Given the description of an element on the screen output the (x, y) to click on. 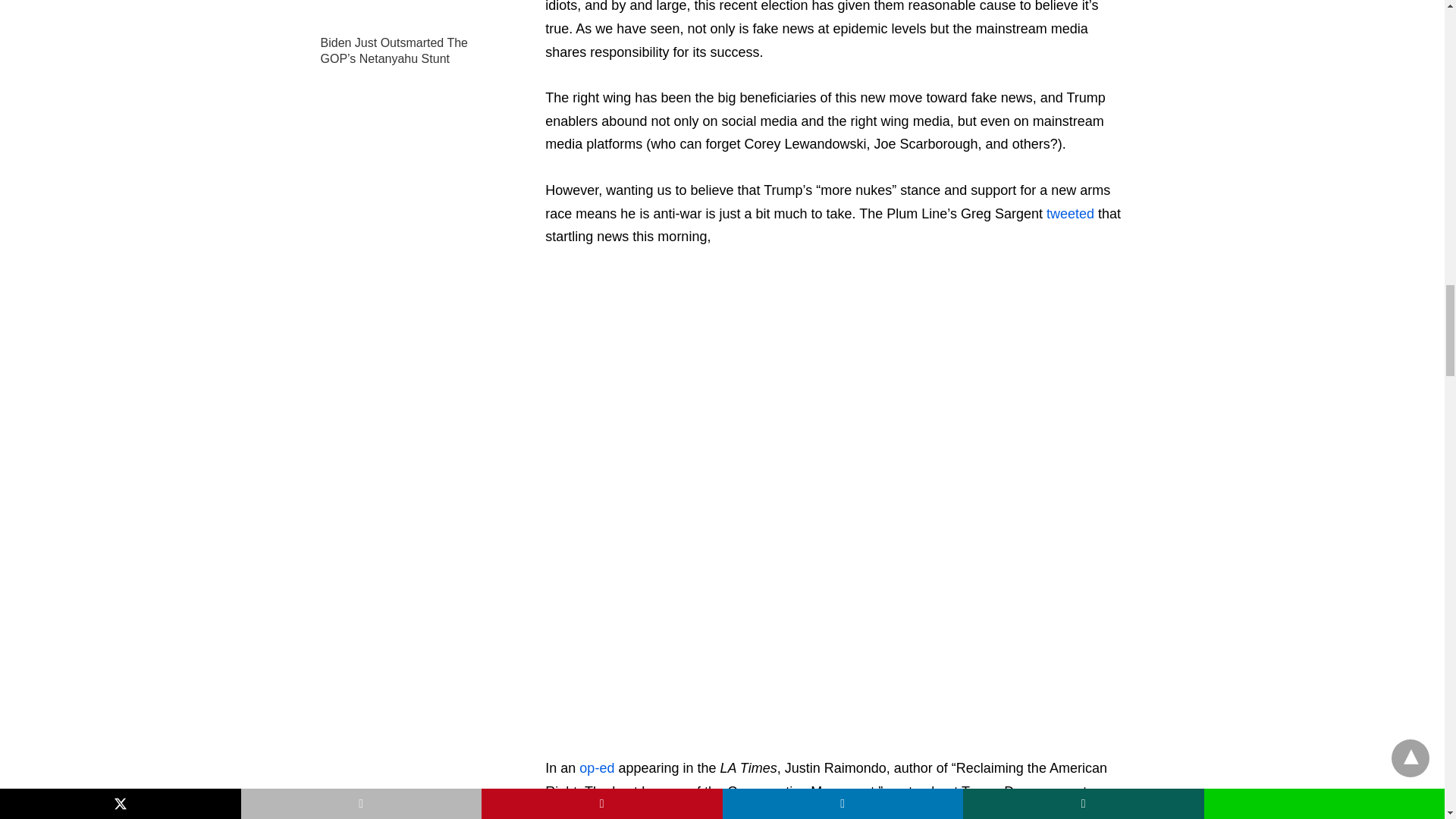
op-ed (596, 767)
tweeted (1071, 213)
